Given the description of an element on the screen output the (x, y) to click on. 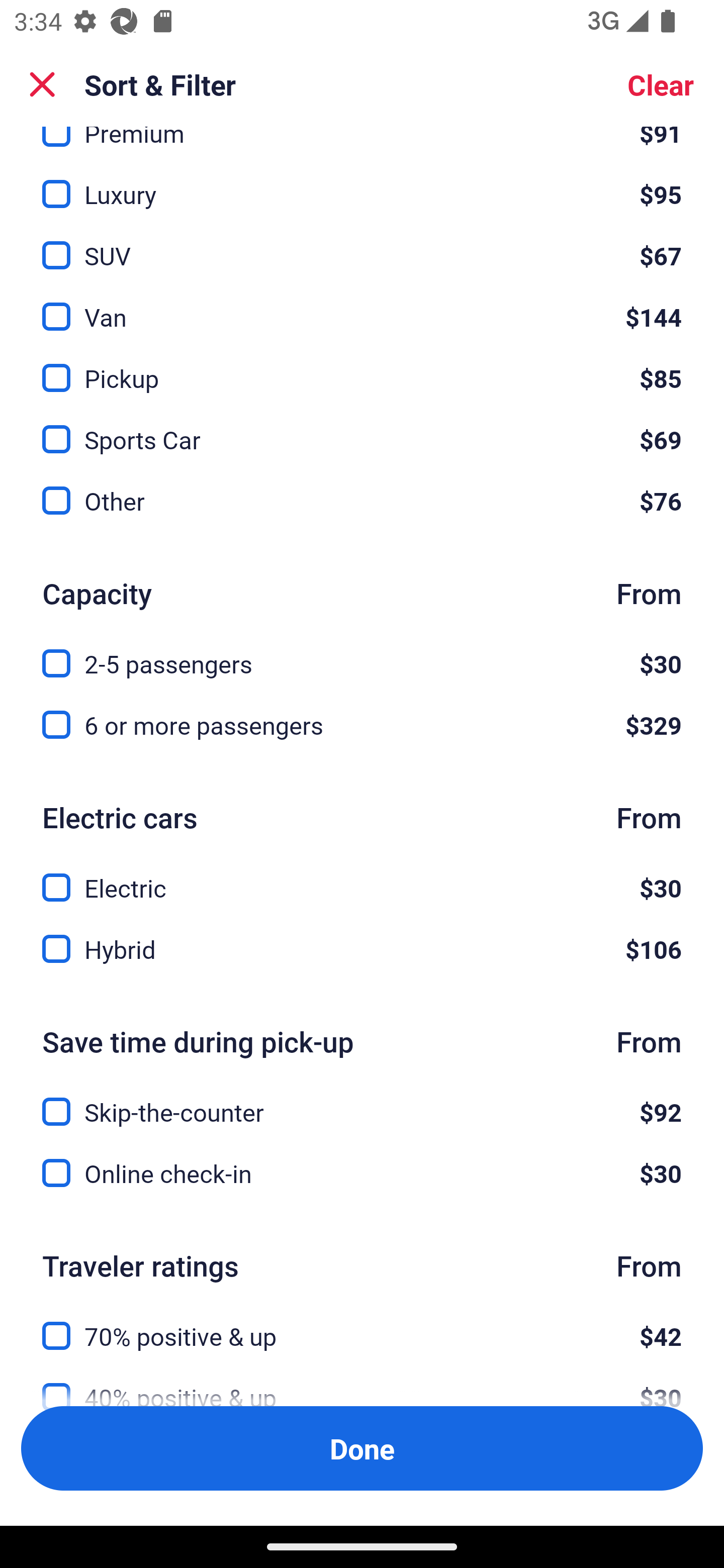
Close Sort and Filter (42, 84)
Clear (660, 84)
Premium, $91 Premium $91 (361, 139)
Luxury, $95 Luxury $95 (361, 182)
SUV, $67 SUV $67 (361, 243)
Van, $144 Van $144 (361, 304)
Pickup, $85 Pickup $85 (361, 366)
Sports Car, $69 Sports Car $69 (361, 428)
Other, $76 Other $76 (361, 500)
2-5 passengers, $30 2-5 passengers $30 (361, 651)
Electric, $30 Electric $30 (361, 876)
Hybrid, $106 Hybrid $106 (361, 948)
Skip-the-counter, $92 Skip-the-counter $92 (361, 1099)
Online check-in, $30 Online check-in $30 (361, 1172)
70% positive & up, $42 70% positive & up $42 (361, 1323)
40% positive & up, $30 40% positive & up $30 (361, 1380)
Apply and close Sort and Filter Done (361, 1448)
